Given the description of an element on the screen output the (x, y) to click on. 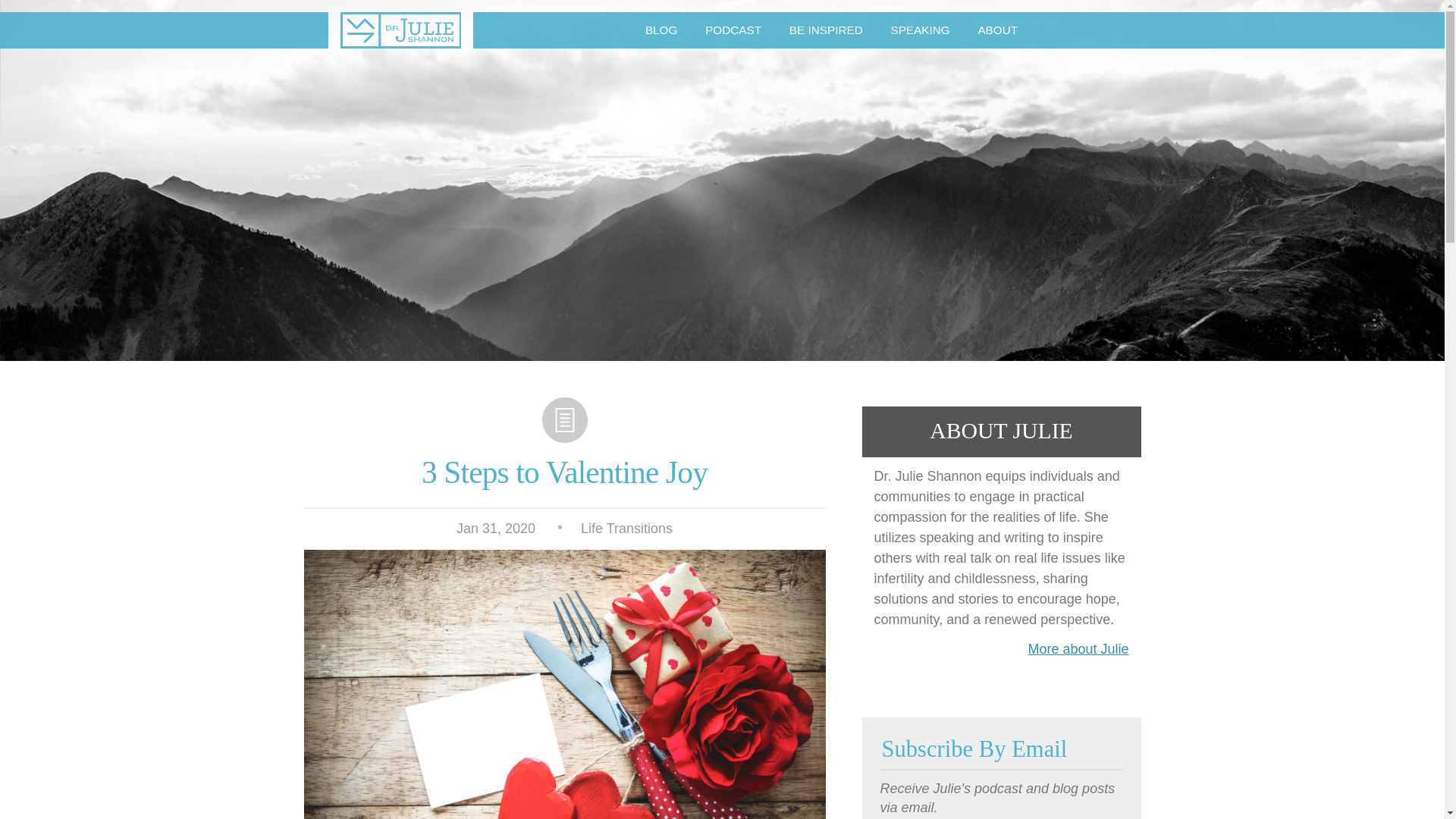
ABOUT (996, 30)
SPEAKING (919, 30)
More about Julie (1077, 648)
PODCAST (733, 30)
BLOG (661, 30)
BE INSPIRED (825, 30)
Life Transitions (626, 528)
